Given the description of an element on the screen output the (x, y) to click on. 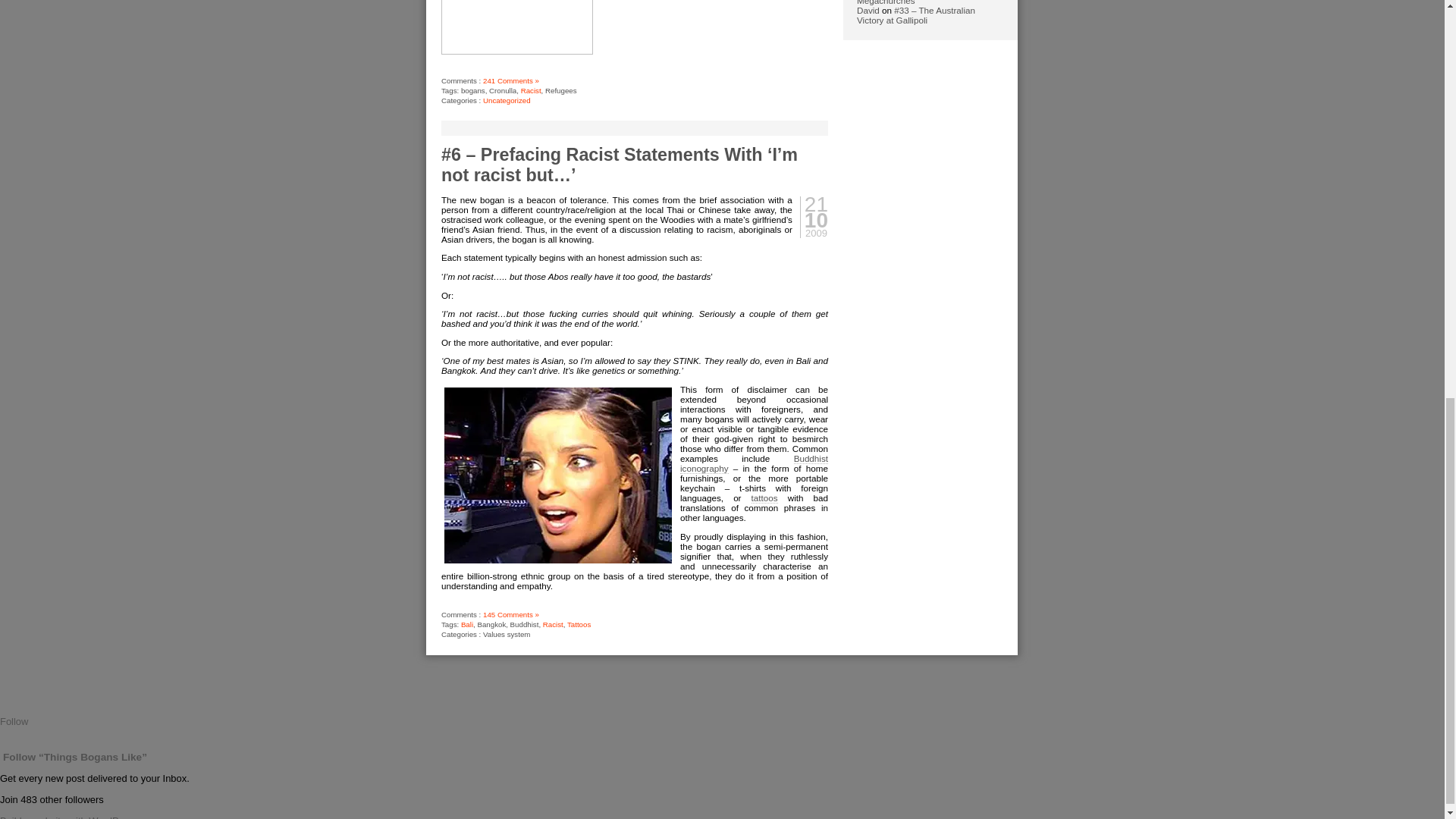
Bali (467, 623)
Uncategorized (507, 100)
Another link within this excellent blog. Remain calm. (764, 498)
Tattoos (579, 623)
tattoos (764, 498)
David (868, 9)
Racist (531, 90)
Buddhist iconography (753, 463)
Chick Chick Boom (558, 475)
Racist (553, 623)
Settle down, it's a link to another entry on here (753, 463)
